Given the description of an element on the screen output the (x, y) to click on. 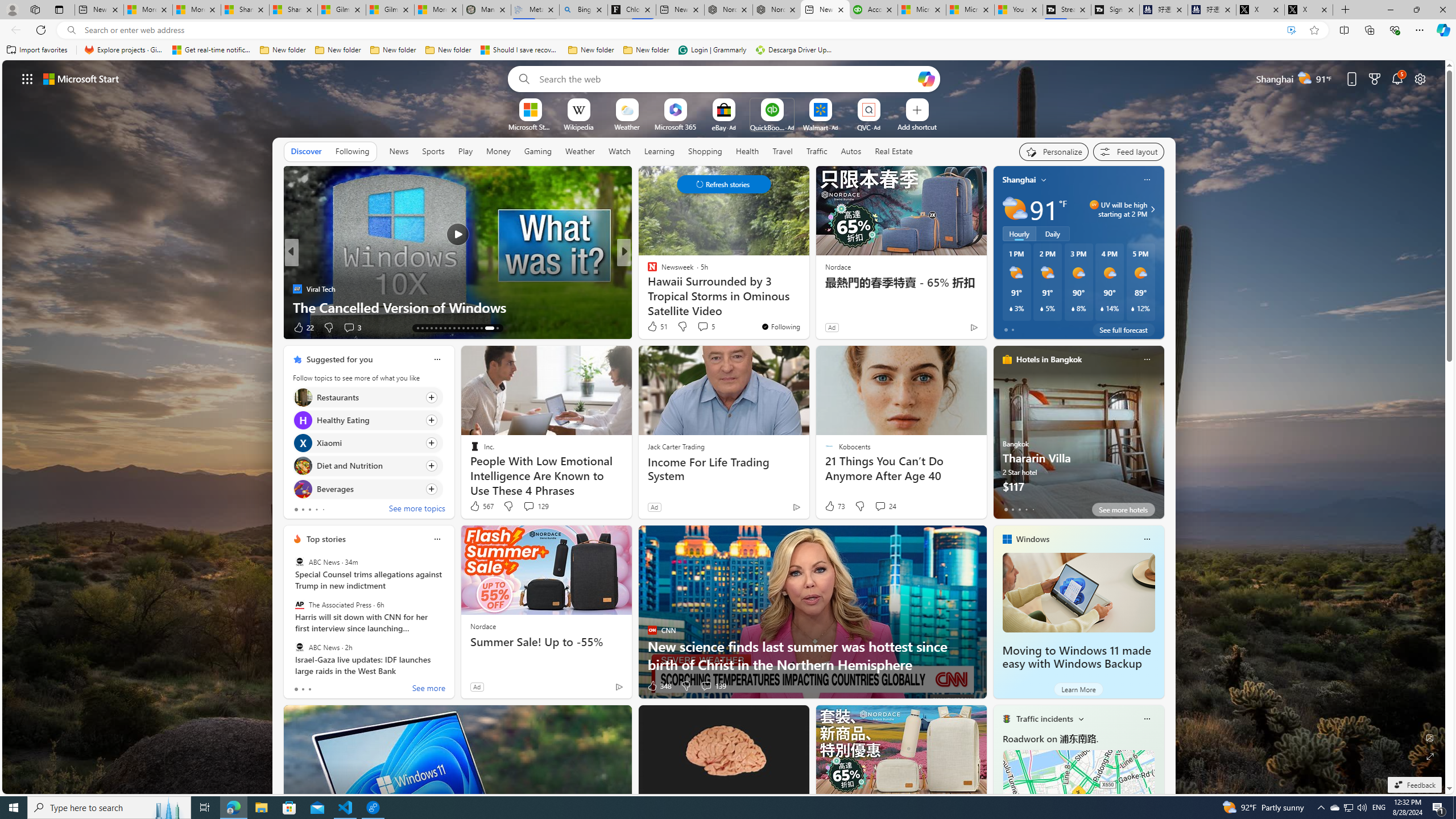
More Options (886, 101)
Enter your search term (726, 78)
Moving to Windows 11 made easy with Windows Backup (1076, 657)
Jack Carter Trading (675, 446)
tab-2 (309, 689)
View comments 24 Comment (879, 505)
Partly sunny (1014, 208)
348 Like (658, 685)
Favorites bar (728, 49)
Change scenarios (1080, 718)
Autos (851, 151)
